Given the description of an element on the screen output the (x, y) to click on. 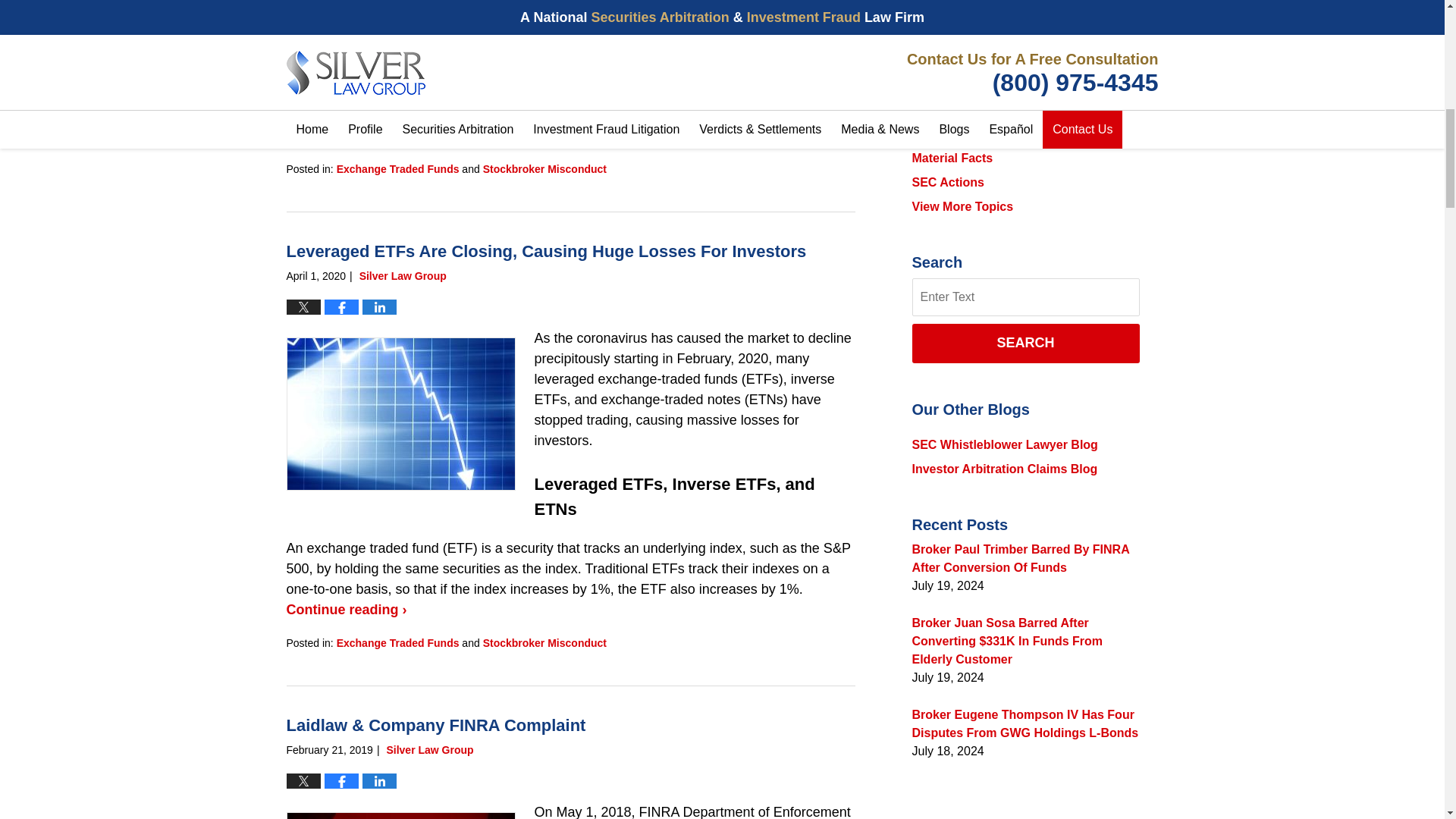
View all posts in Stockbroker Misconduct (545, 168)
View all posts in Exchange Traded Funds (398, 168)
View all posts in Exchange Traded Funds (398, 643)
View all posts in Stockbroker Misconduct (545, 643)
